Given the description of an element on the screen output the (x, y) to click on. 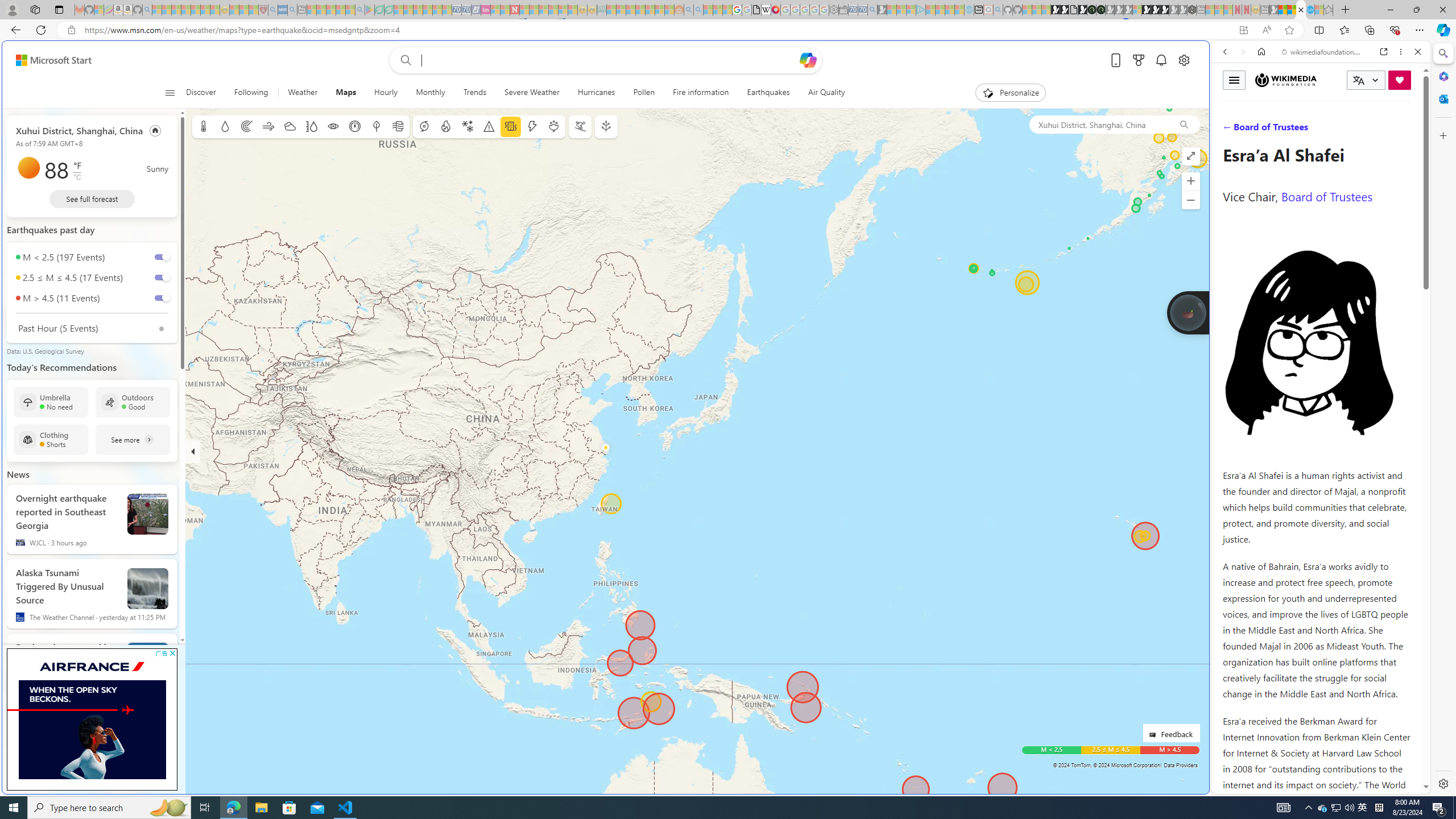
Bing Real Estate - Home sales and rental listings - Sleeping (872, 9)
Forward (1242, 51)
Jobs - lastminute.com Investor Portal - Sleeping (485, 9)
Pets - MSN - Sleeping (340, 9)
Home | Sky Blue Bikes - Sky Blue Bikes (1118, 242)
Bluey: Let's Play! - Apps on Google Play - Sleeping (369, 9)
Weather (302, 92)
Microsoft account | Privacy - Sleeping (910, 9)
